Given the description of an element on the screen output the (x, y) to click on. 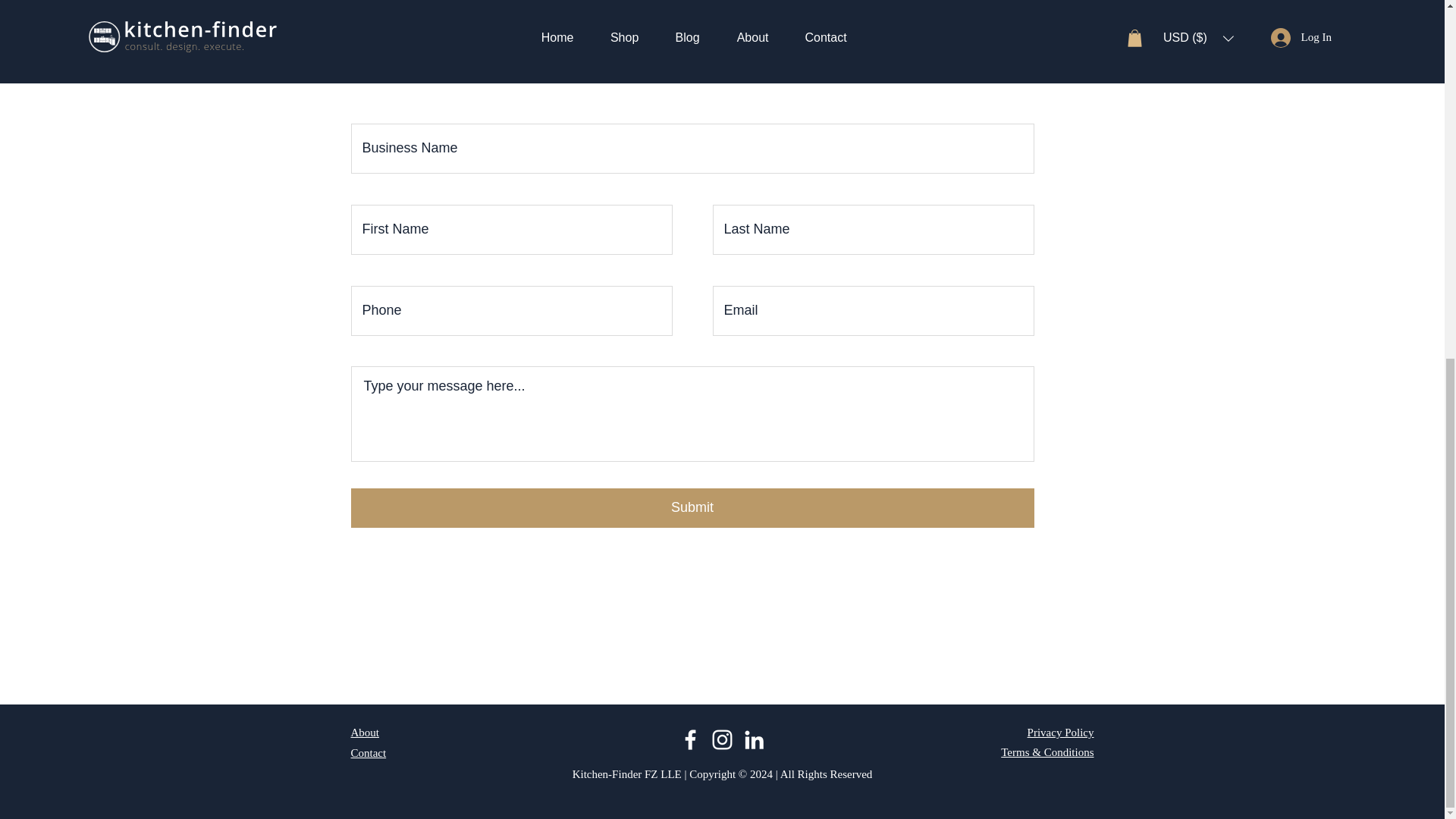
Contact (367, 752)
About (364, 732)
Privacy Policy (1060, 732)
